Given the description of an element on the screen output the (x, y) to click on. 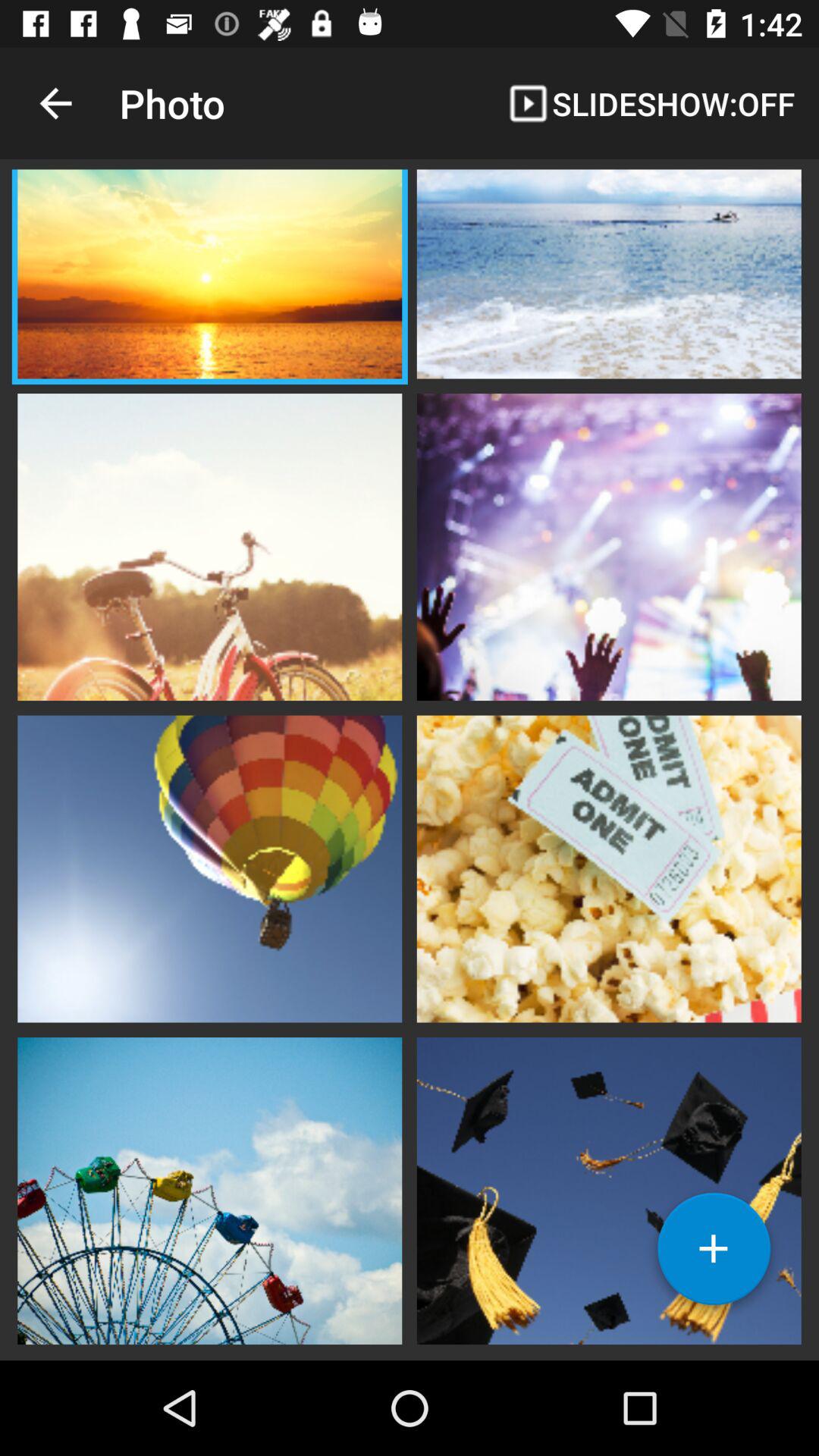
click the photo option (209, 275)
